Given the description of an element on the screen output the (x, y) to click on. 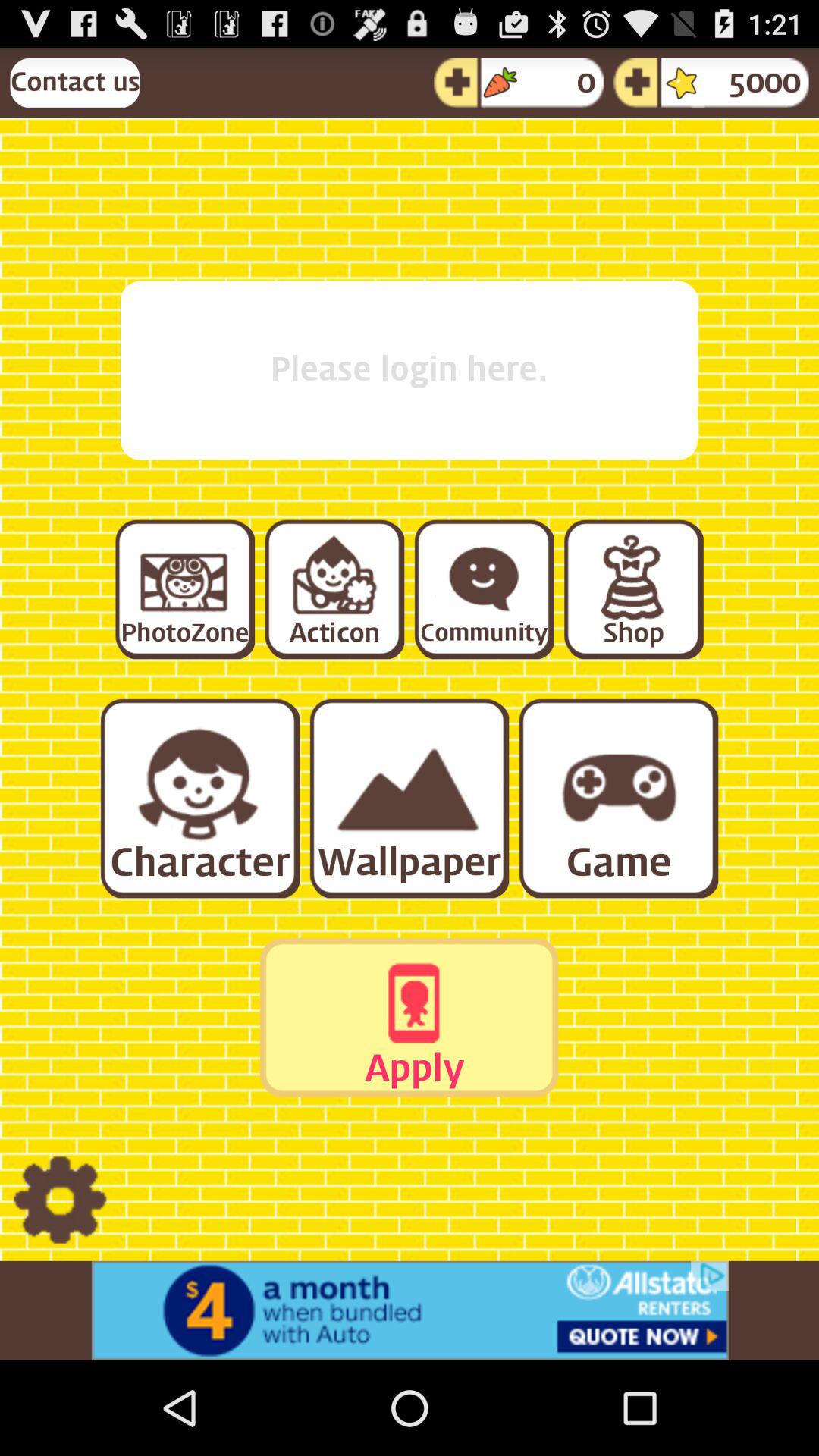
advertisement display (409, 1310)
